Given the description of an element on the screen output the (x, y) to click on. 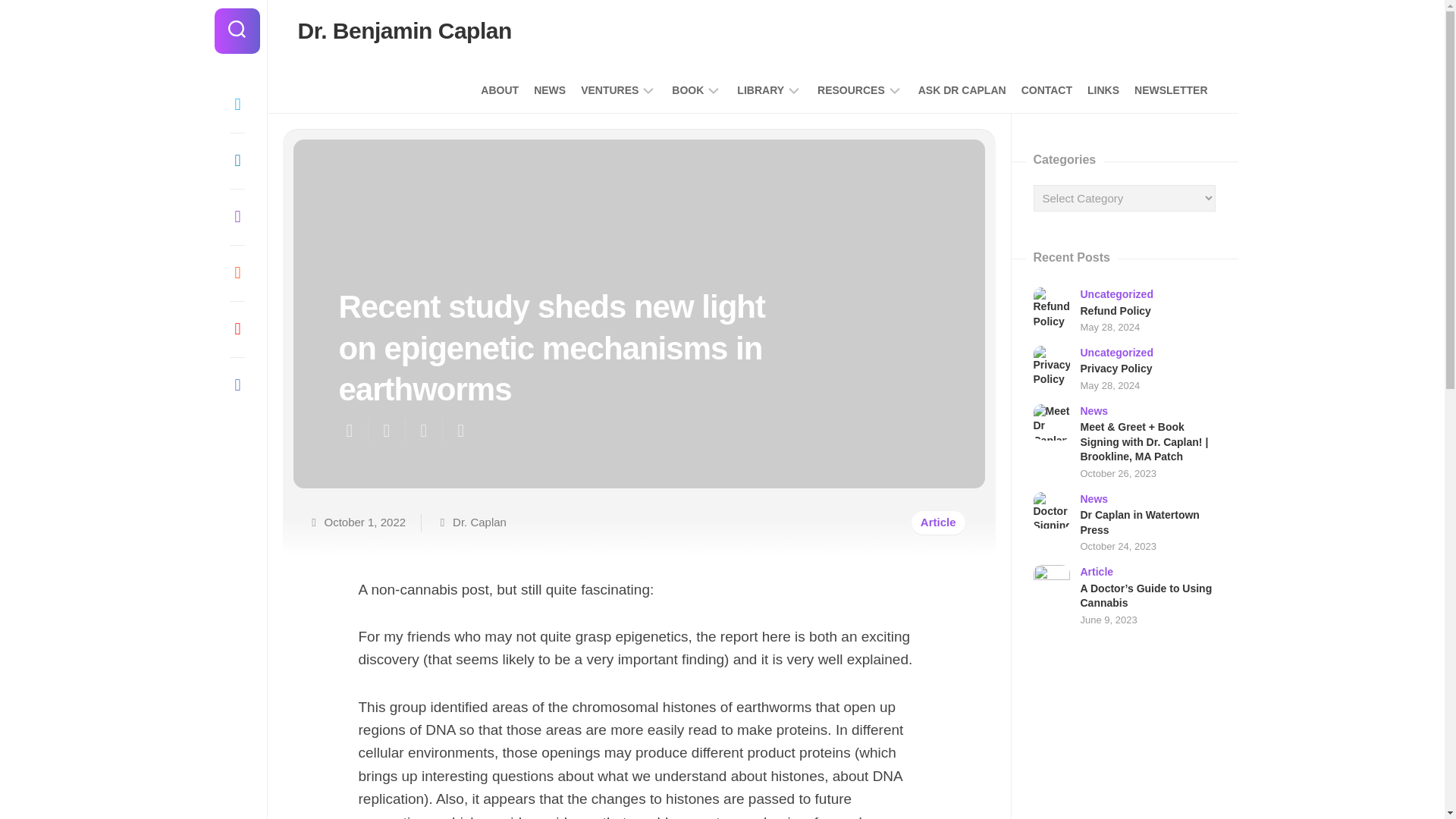
Dr. Benjamin Caplan (404, 31)
LINKS (1103, 89)
Share on Facebook (385, 430)
BOOK (687, 89)
ASK DR CAPLAN (962, 89)
Share on LinkedIn (460, 430)
ABOUT (499, 89)
LIBRARY (760, 89)
NEWS (550, 89)
NEWSLETTER (1170, 89)
